Given the description of an element on the screen output the (x, y) to click on. 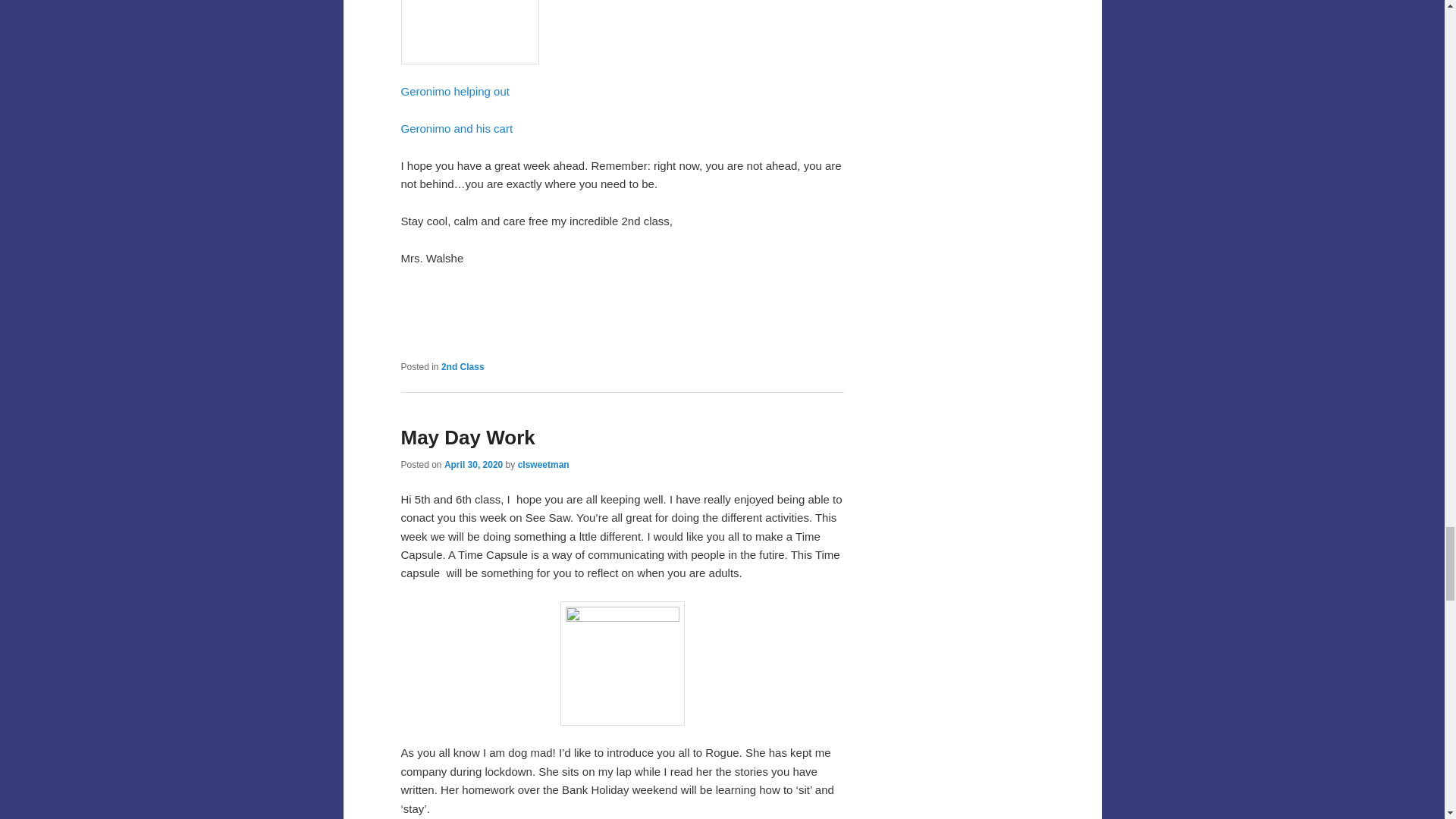
2:30 pm (473, 464)
View all posts by clsweetman (543, 464)
